Given the description of an element on the screen output the (x, y) to click on. 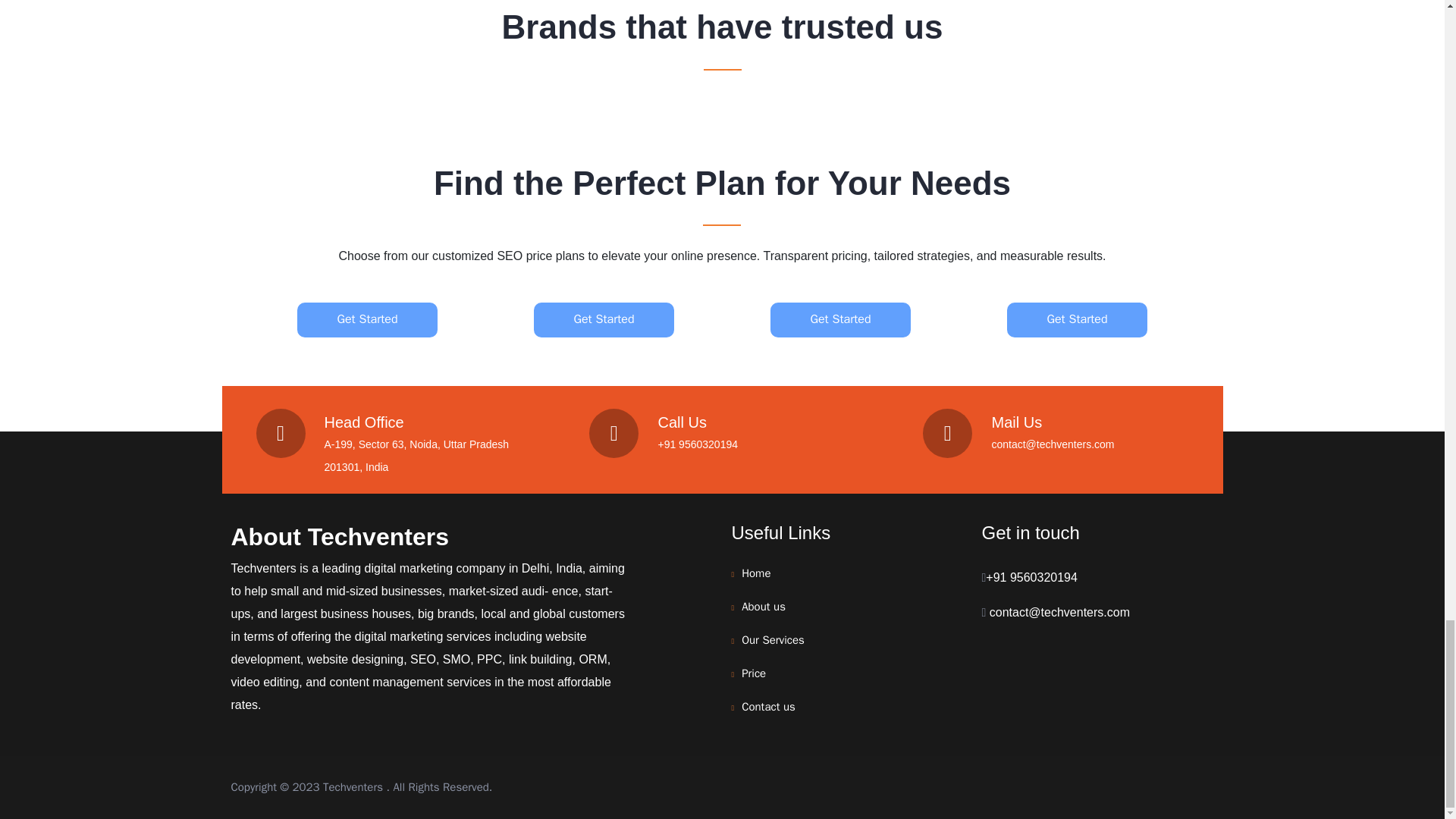
Get Started (366, 319)
Contact us (767, 706)
Get Started (1077, 319)
Home (755, 572)
Our Services (773, 640)
Price (753, 673)
Home (755, 572)
Get Started (840, 319)
About us (763, 606)
